Given the description of an element on the screen output the (x, y) to click on. 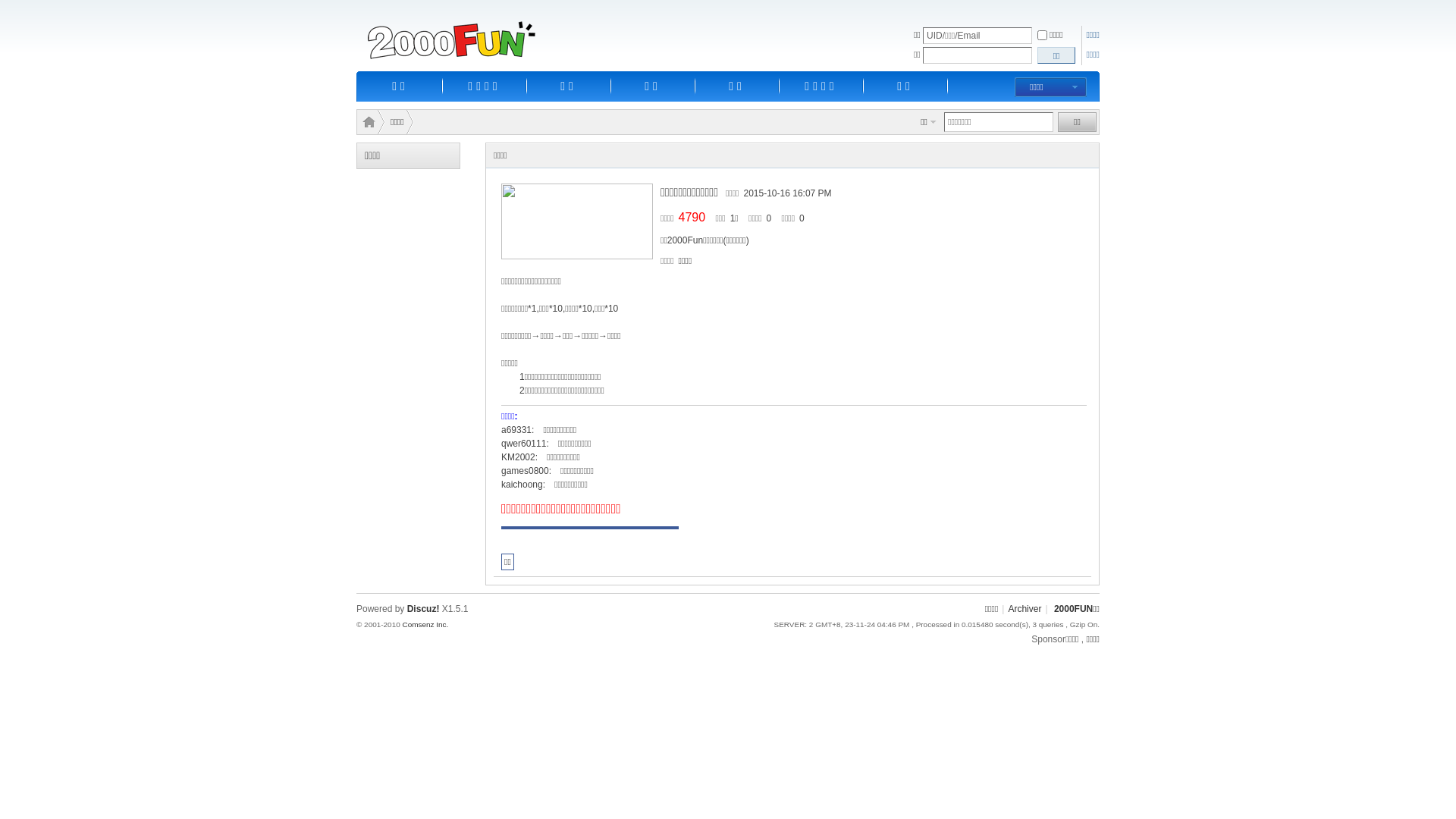
Comsenz Inc. Element type: text (424, 624)
Archiver Element type: text (1024, 608)
Discuz! Element type: text (423, 608)
